Given the description of an element on the screen output the (x, y) to click on. 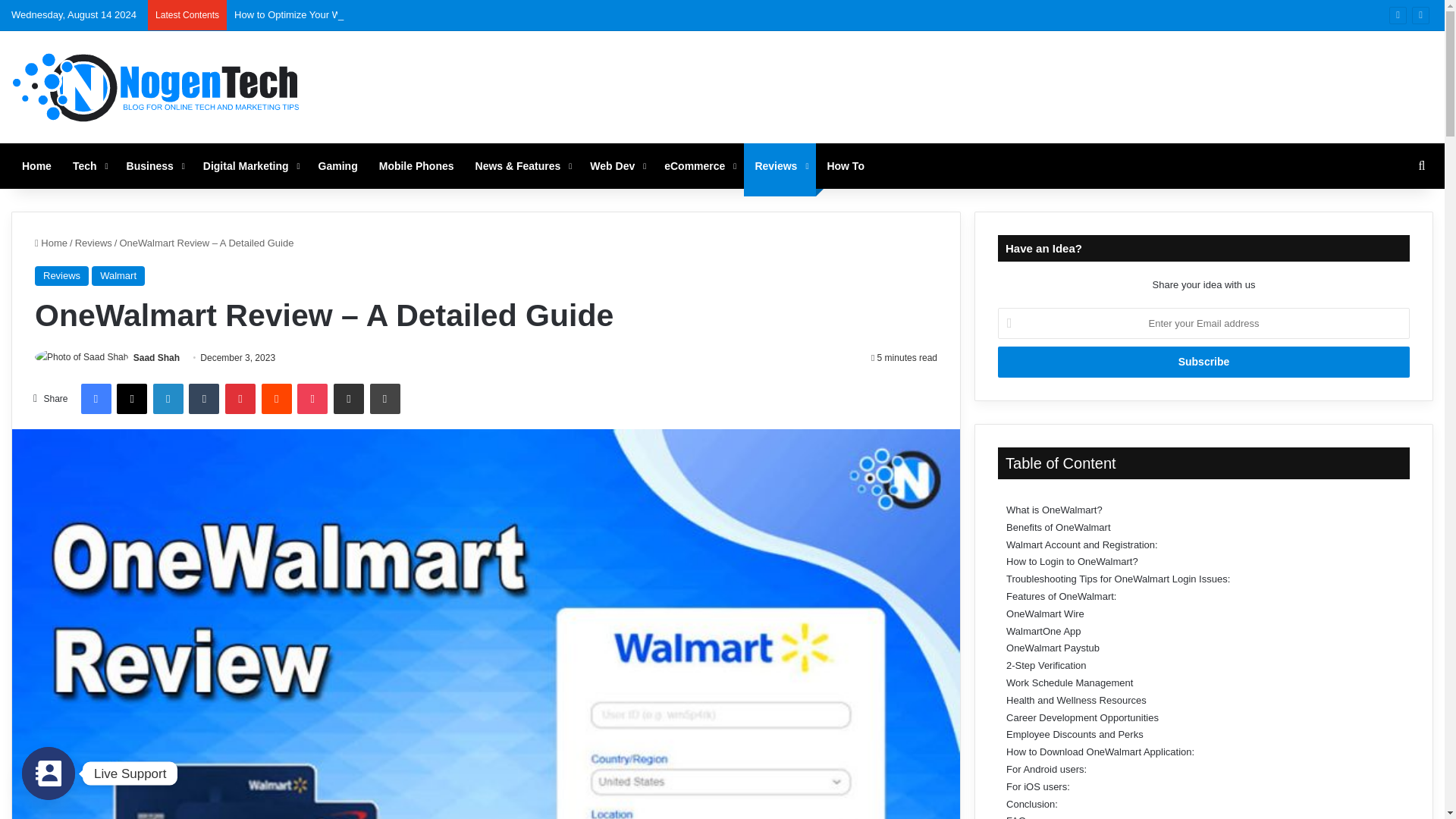
Tech (89, 166)
X (131, 399)
Tumblr (204, 399)
LinkedIn (167, 399)
Facebook (95, 399)
Mobile Phones (416, 166)
Digital Marketing (249, 166)
Reddit (277, 399)
Gaming (337, 166)
How to Optimize Your Workloads With Azure AKS  (343, 14)
